Given the description of an element on the screen output the (x, y) to click on. 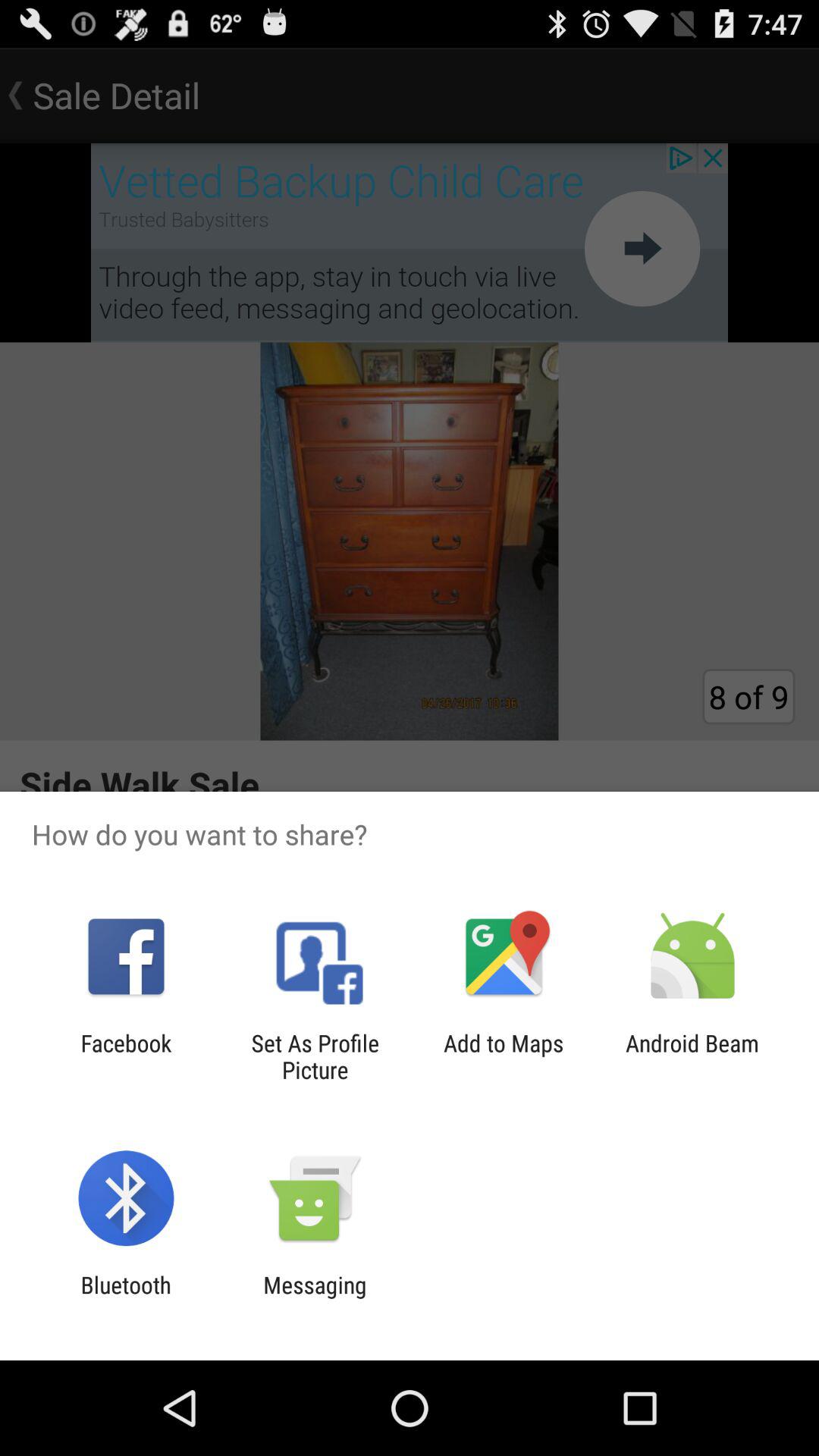
choose app to the right of the facebook (314, 1056)
